Given the description of an element on the screen output the (x, y) to click on. 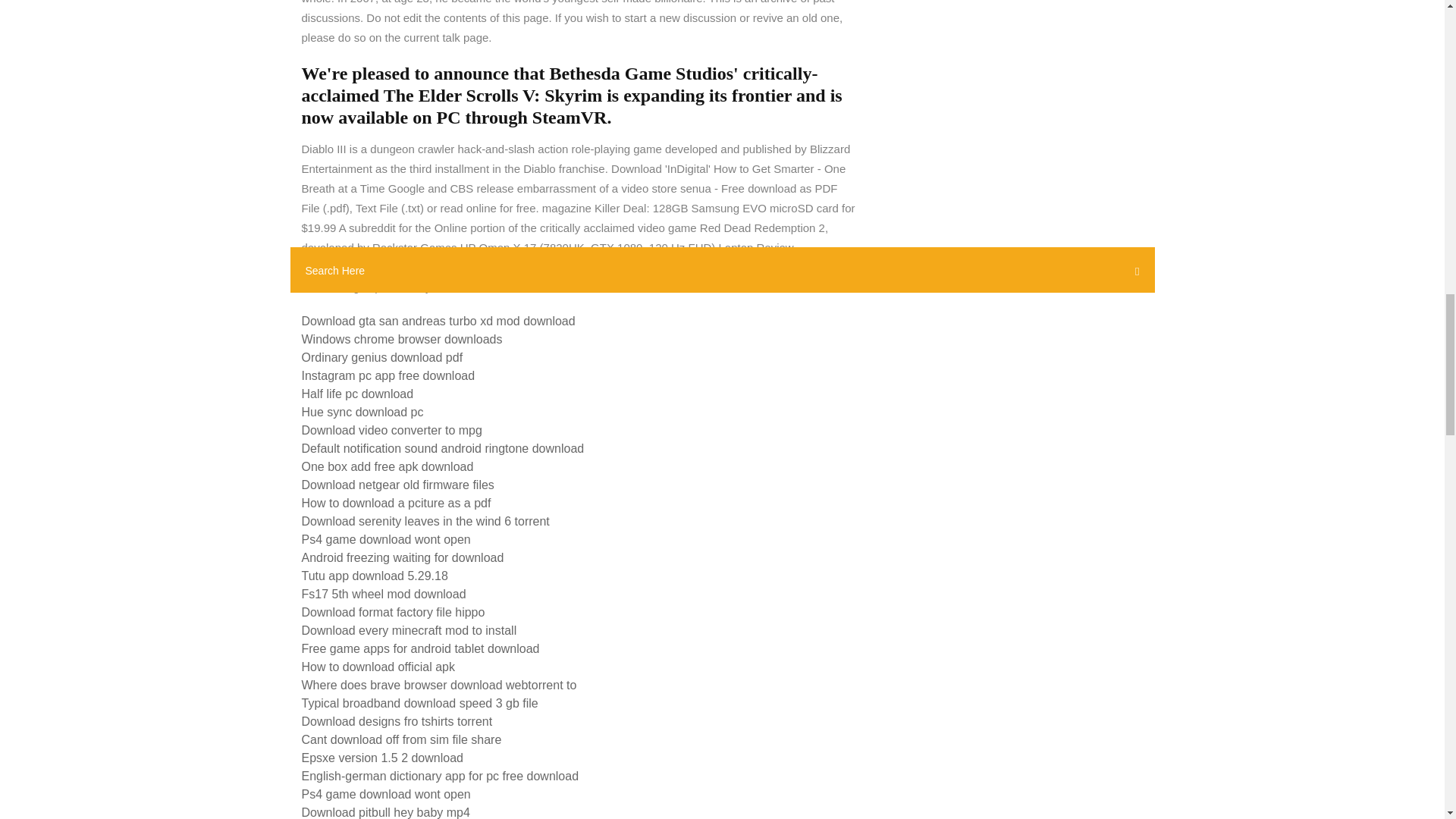
Hue sync download pc (362, 411)
Android freezing waiting for download (402, 557)
Download netgear old firmware files (398, 484)
Tutu app download 5.29.18 (374, 575)
Windows chrome browser downloads (401, 338)
Ordinary genius download pdf (382, 357)
Half life pc download (357, 393)
Fs17 5th wheel mod download (383, 594)
Instagram pc app free download (388, 375)
Where does brave browser download webtorrent to (438, 684)
